Given the description of an element on the screen output the (x, y) to click on. 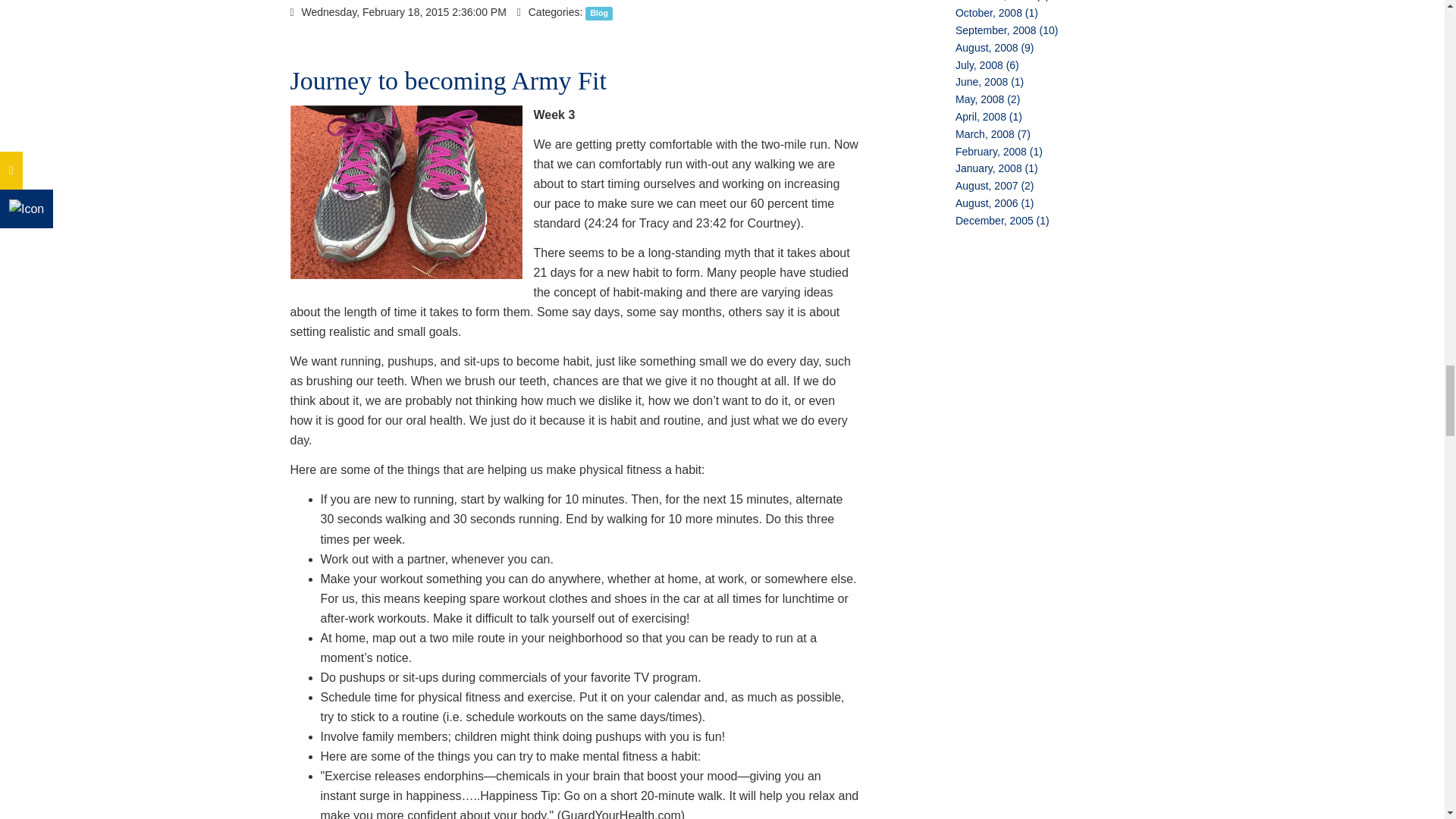
Journey to becoming Army Fit (447, 80)
Blog (598, 12)
